Given the description of an element on the screen output the (x, y) to click on. 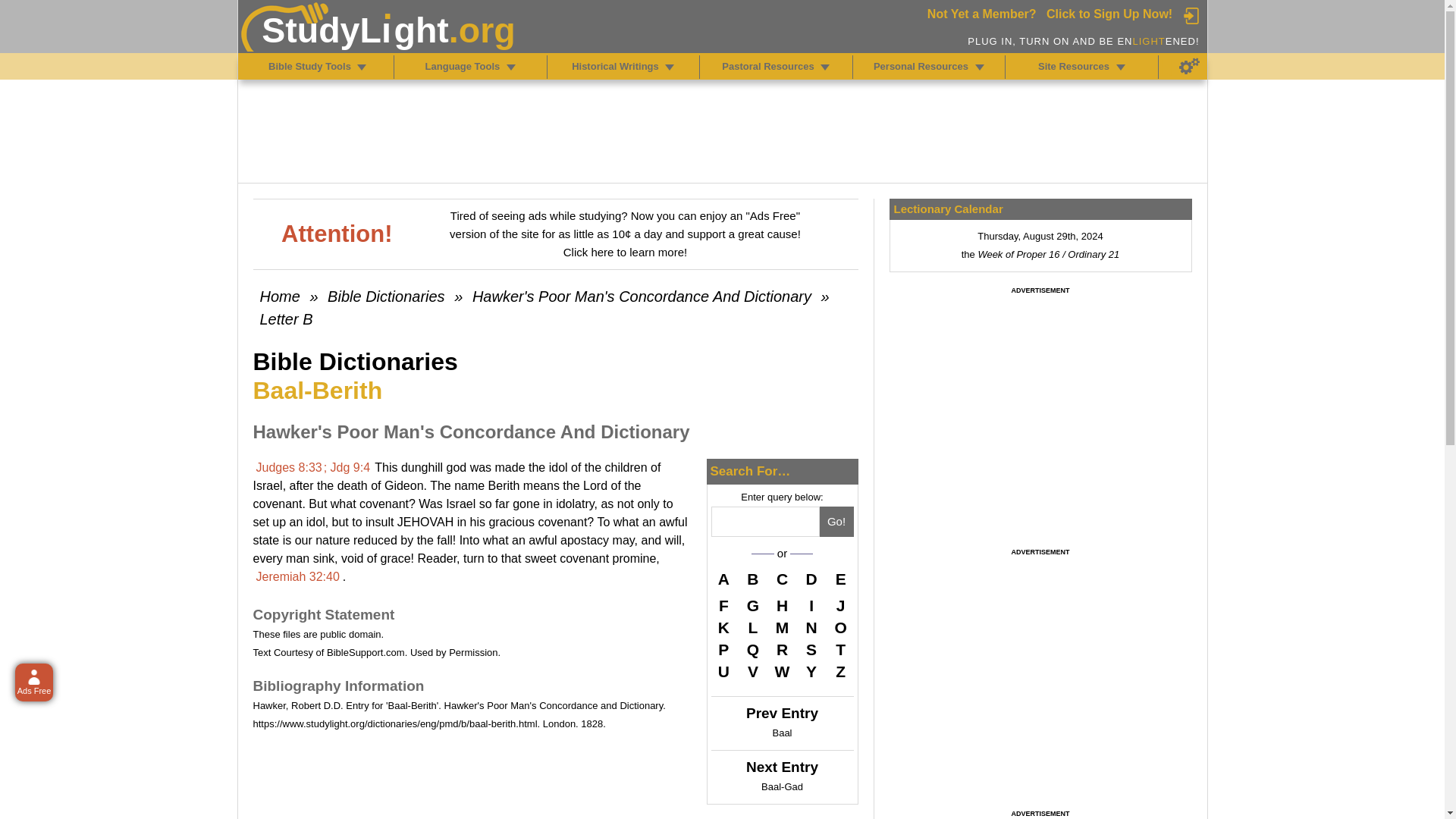
Bible Dictionaries (386, 296)
C (782, 581)
Site Resources (1120, 67)
U (723, 671)
A (723, 581)
L (752, 628)
Q (752, 649)
T (840, 649)
N (810, 628)
D (810, 581)
